Given the description of an element on the screen output the (x, y) to click on. 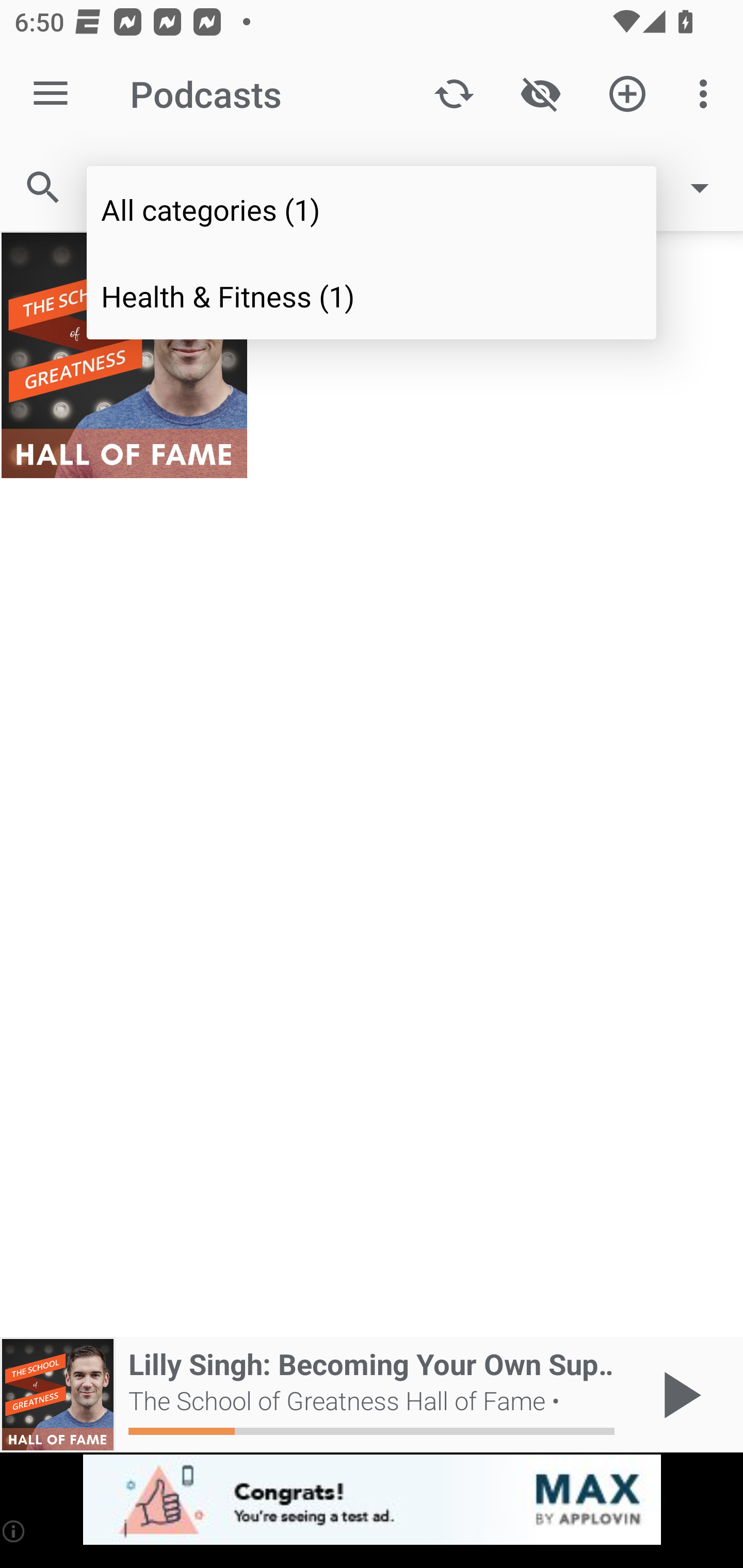
All categories (1) (371, 209)
Health & Fitness (1) (371, 295)
